Given the description of an element on the screen output the (x, y) to click on. 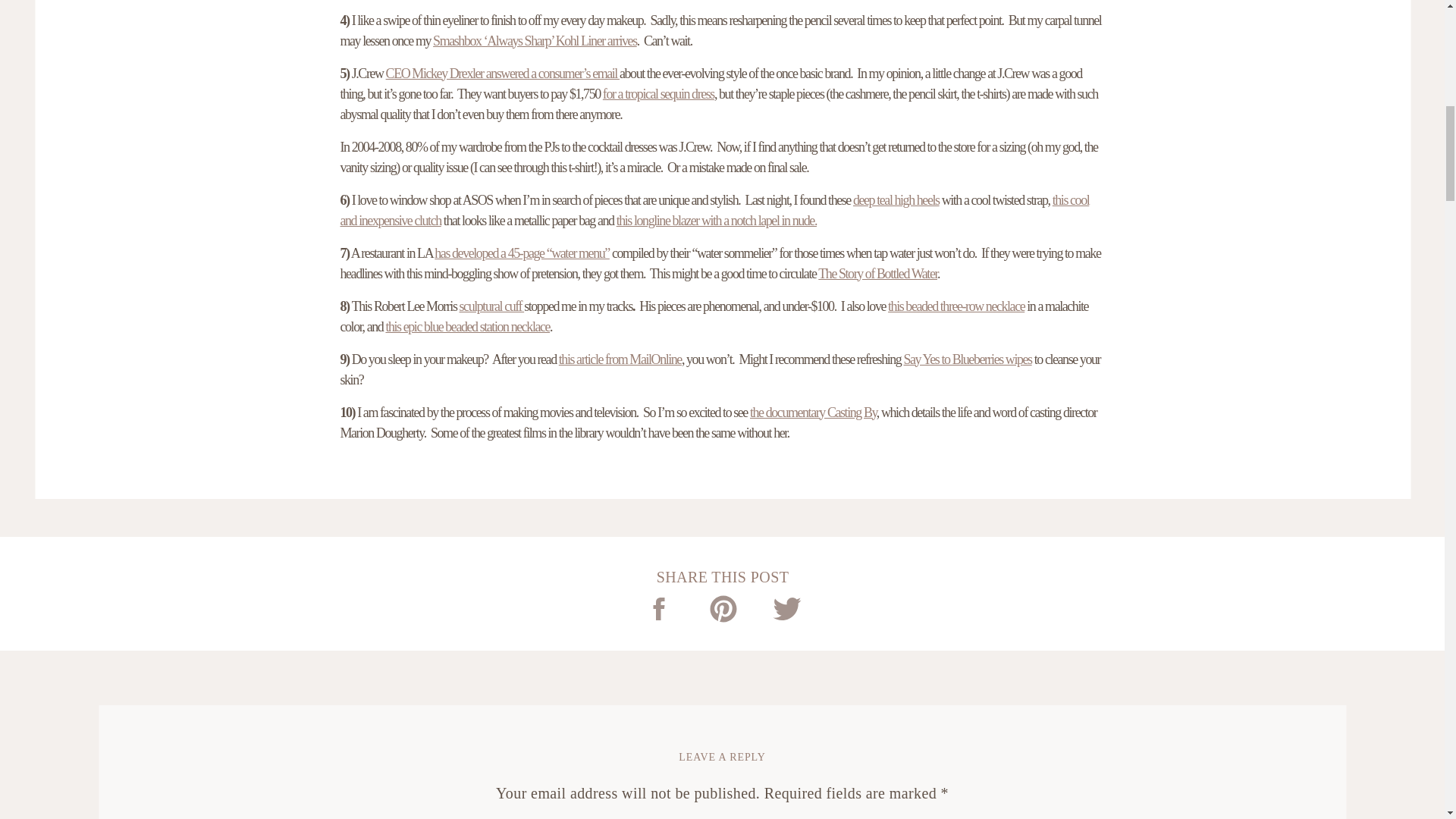
this cool and inexpensive clutch (714, 210)
deep teal high heels (896, 200)
this longline blazer with a notch lapel in nude. (715, 220)
for a tropical sequin dress (658, 93)
